Given the description of an element on the screen output the (x, y) to click on. 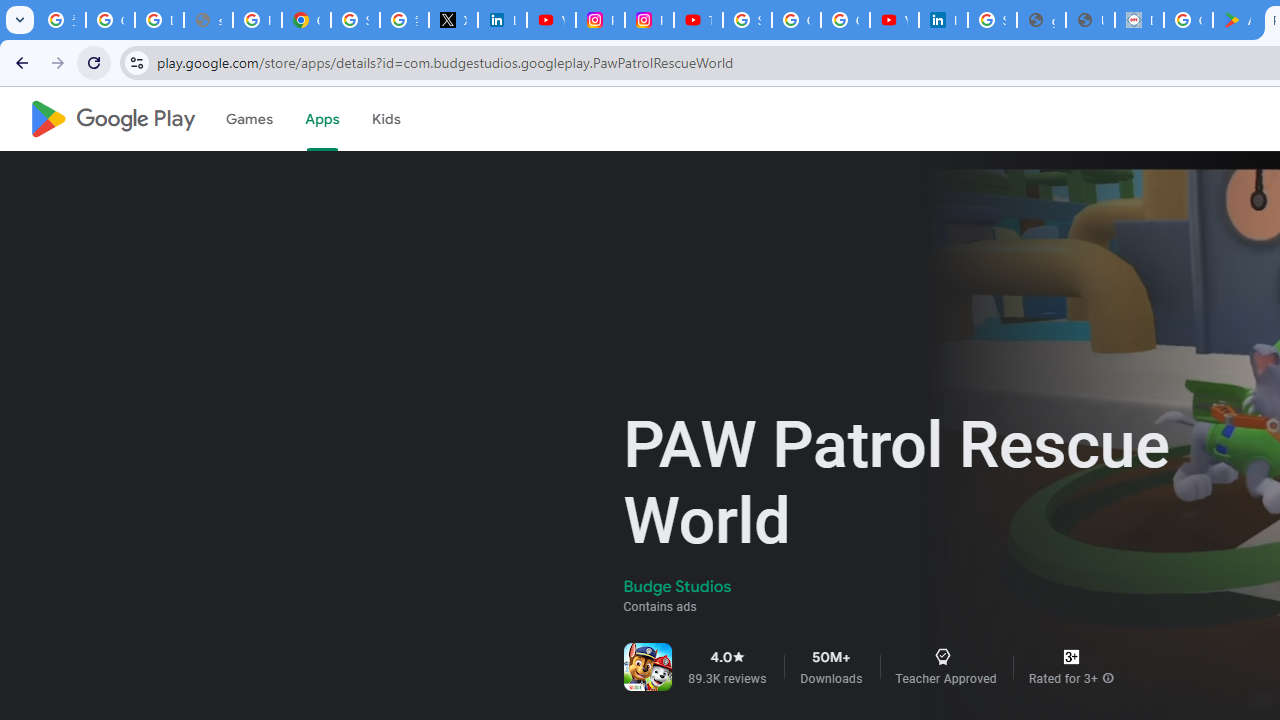
support.google.com - Network error (208, 20)
X (452, 20)
YouTube Content Monetization Policies - How YouTube Works (551, 20)
Sign in - Google Accounts (747, 20)
Data Privacy Framework (1138, 20)
Android Apps on Google Play (1237, 20)
Budge Studios (677, 586)
Content rating (1071, 656)
